Given the description of an element on the screen output the (x, y) to click on. 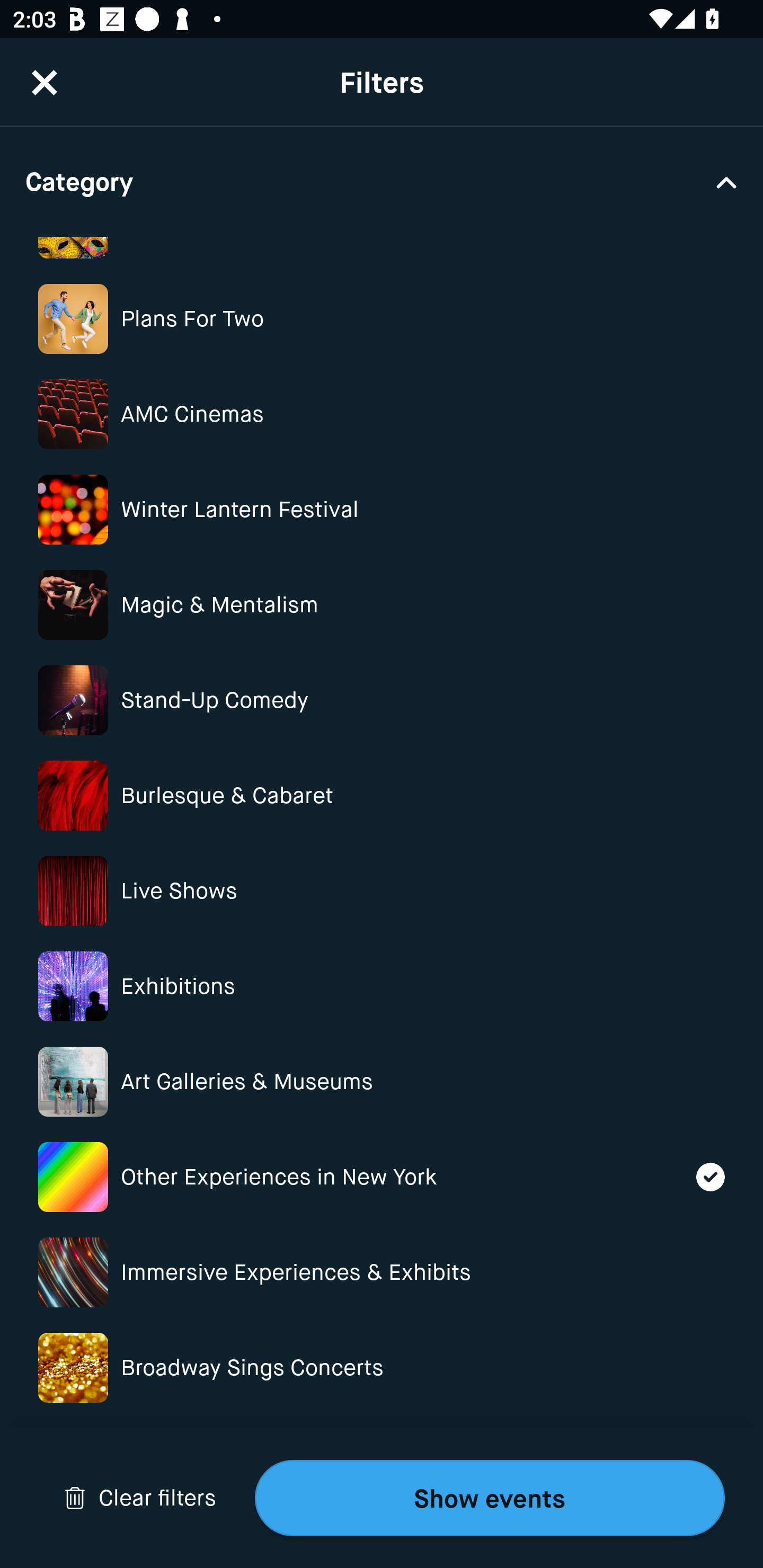
Category Drop Down Arrow (381, 181)
Category Image Plans For Two (381, 318)
Category Image AMC Cinemas (381, 414)
Category Image Winter Lantern Festival (381, 509)
Category Image Magic & Mentalism (381, 604)
Category Image Stand-Up Comedy (381, 699)
Category Image Burlesque & Cabaret (381, 795)
Category Image Live Shows (381, 890)
Category Image Exhibitions (381, 985)
Category Image Art Galleries & Museums (381, 1081)
Category Image Immersive Experiences & Exhibits (381, 1272)
Category Image Broadway Sings Concerts (381, 1367)
Drop Down Arrow Clear filters (139, 1497)
Show events (489, 1497)
